Given the description of an element on the screen output the (x, y) to click on. 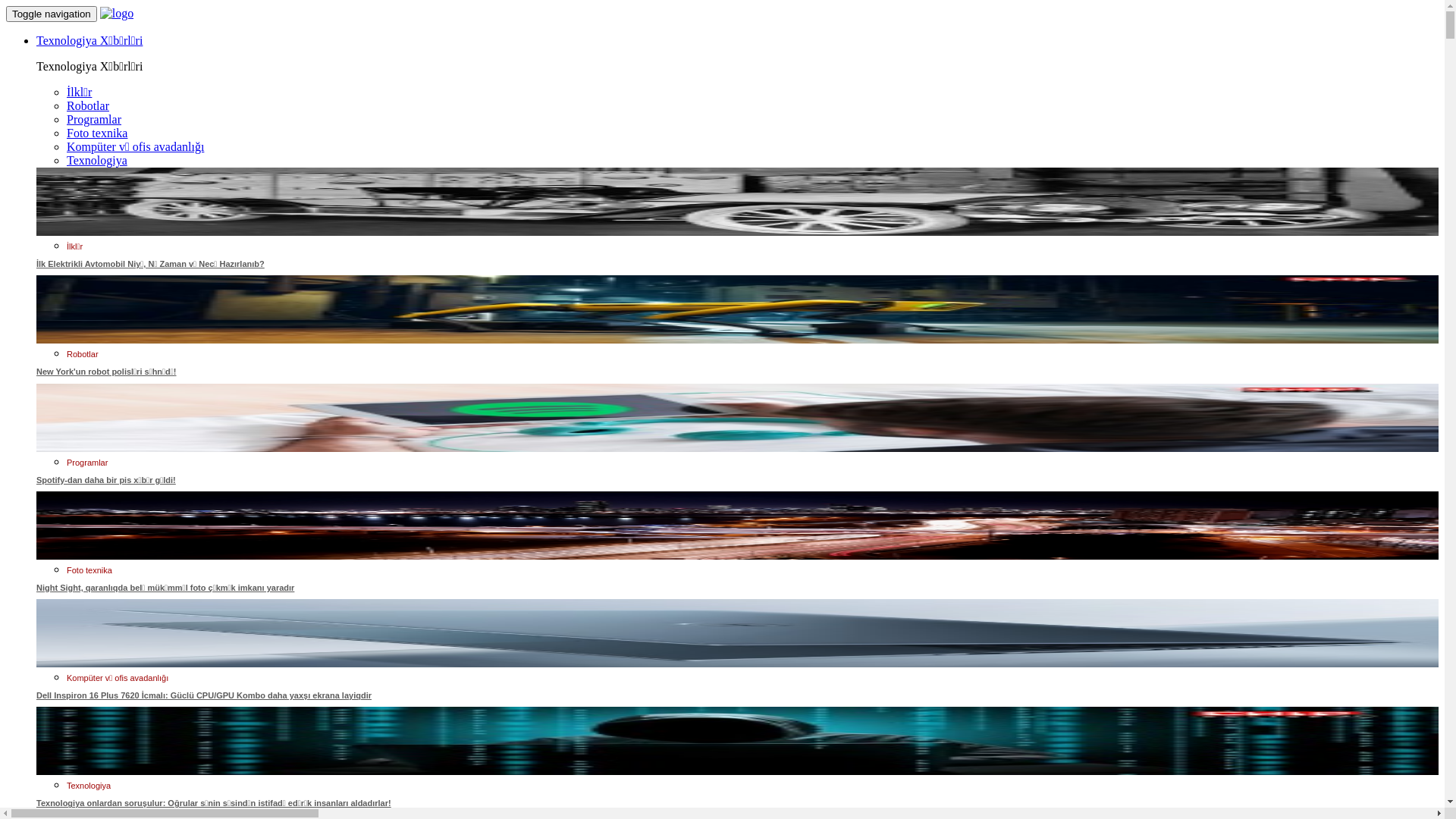
Foto texnika Element type: text (89, 569)
Texnologiya Element type: text (96, 159)
Robotlar Element type: text (82, 353)
Robotlar Element type: text (87, 105)
Programlar Element type: text (93, 118)
Programlar Element type: text (86, 462)
Toggle navigation Element type: text (51, 13)
Texnologiya Element type: text (88, 785)
Foto texnika Element type: text (96, 132)
